Given the description of an element on the screen output the (x, y) to click on. 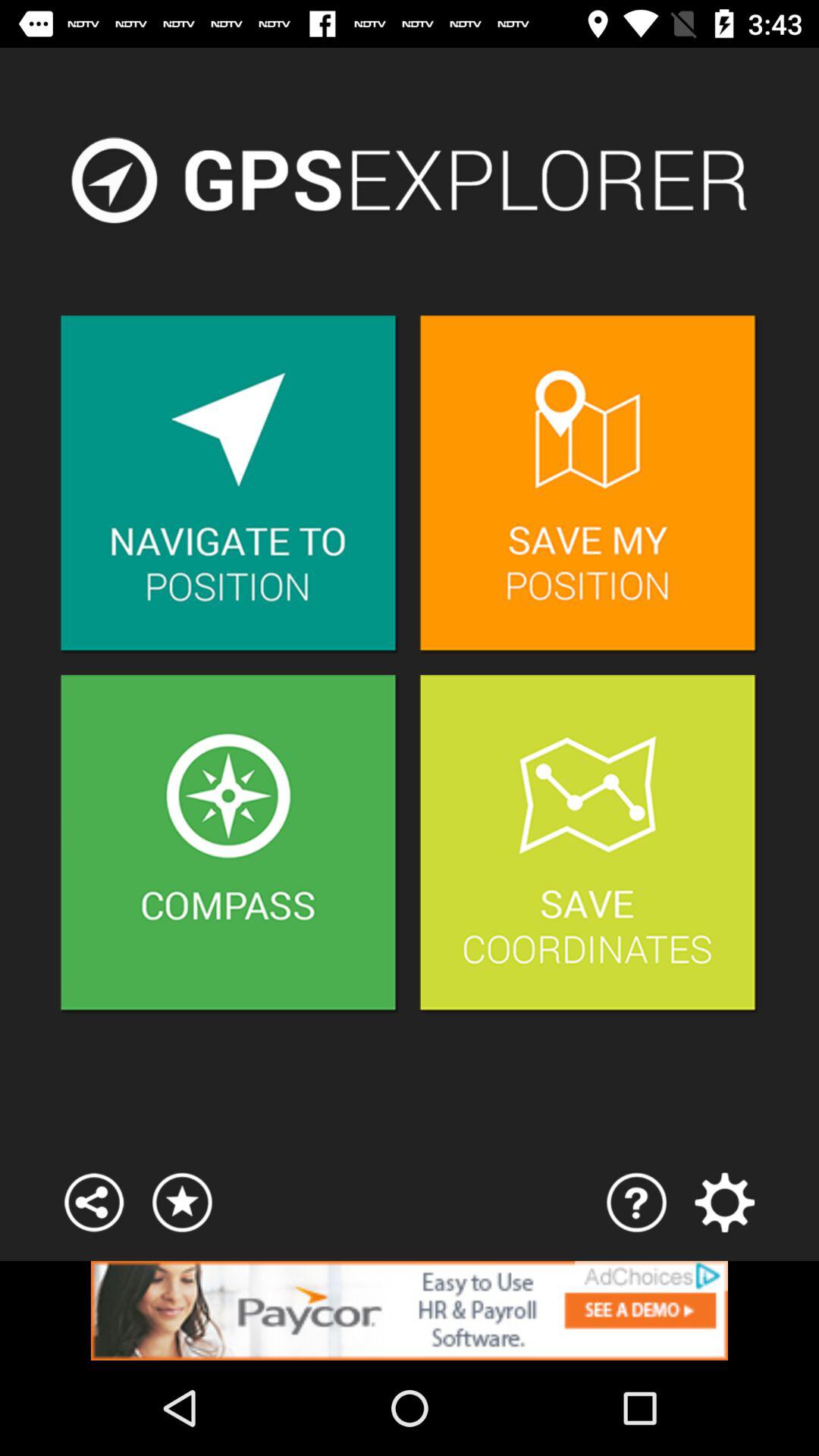
space where you access advertising (409, 1310)
